Given the description of an element on the screen output the (x, y) to click on. 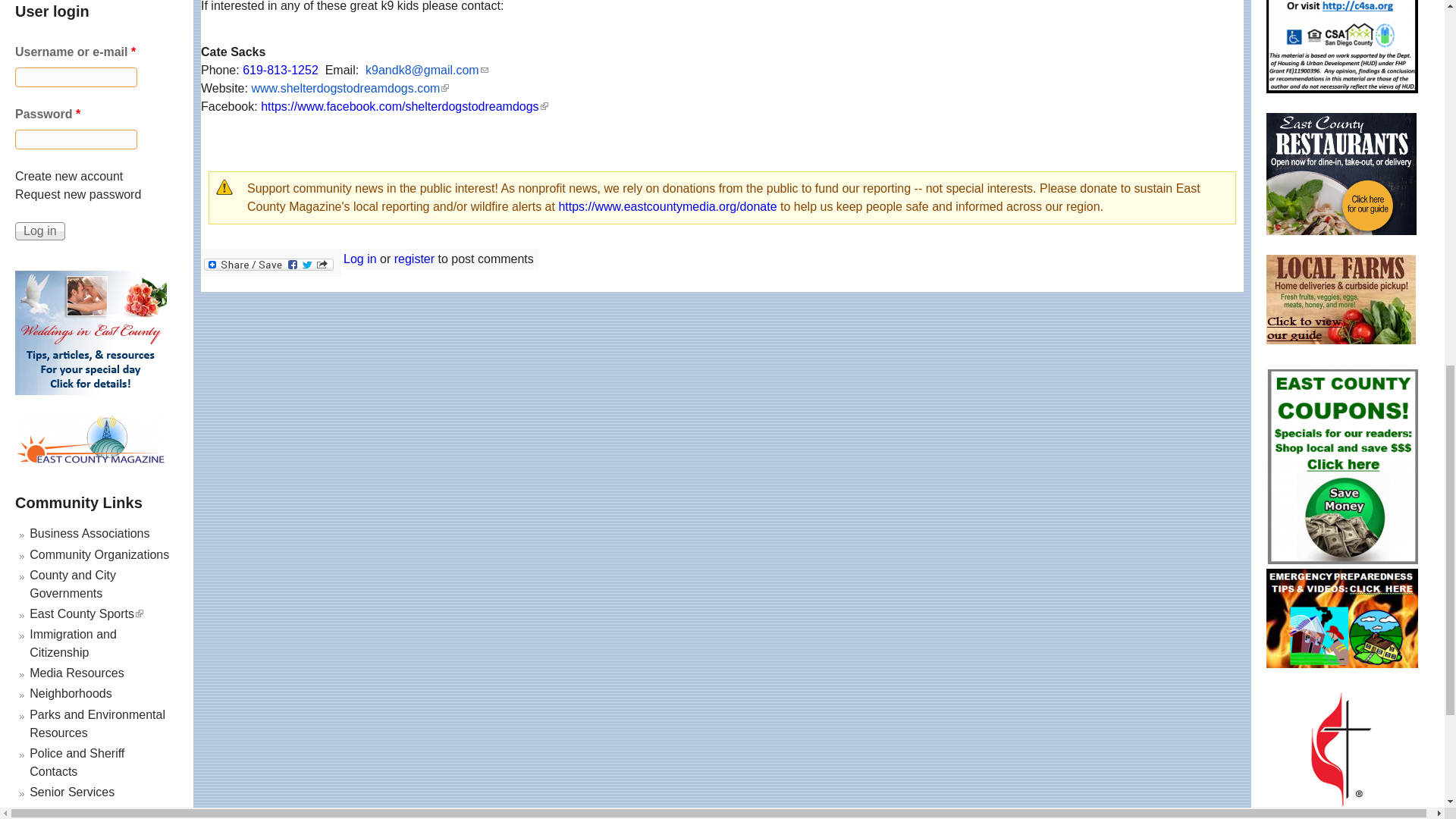
Log in (39, 230)
